Given the description of an element on the screen output the (x, y) to click on. 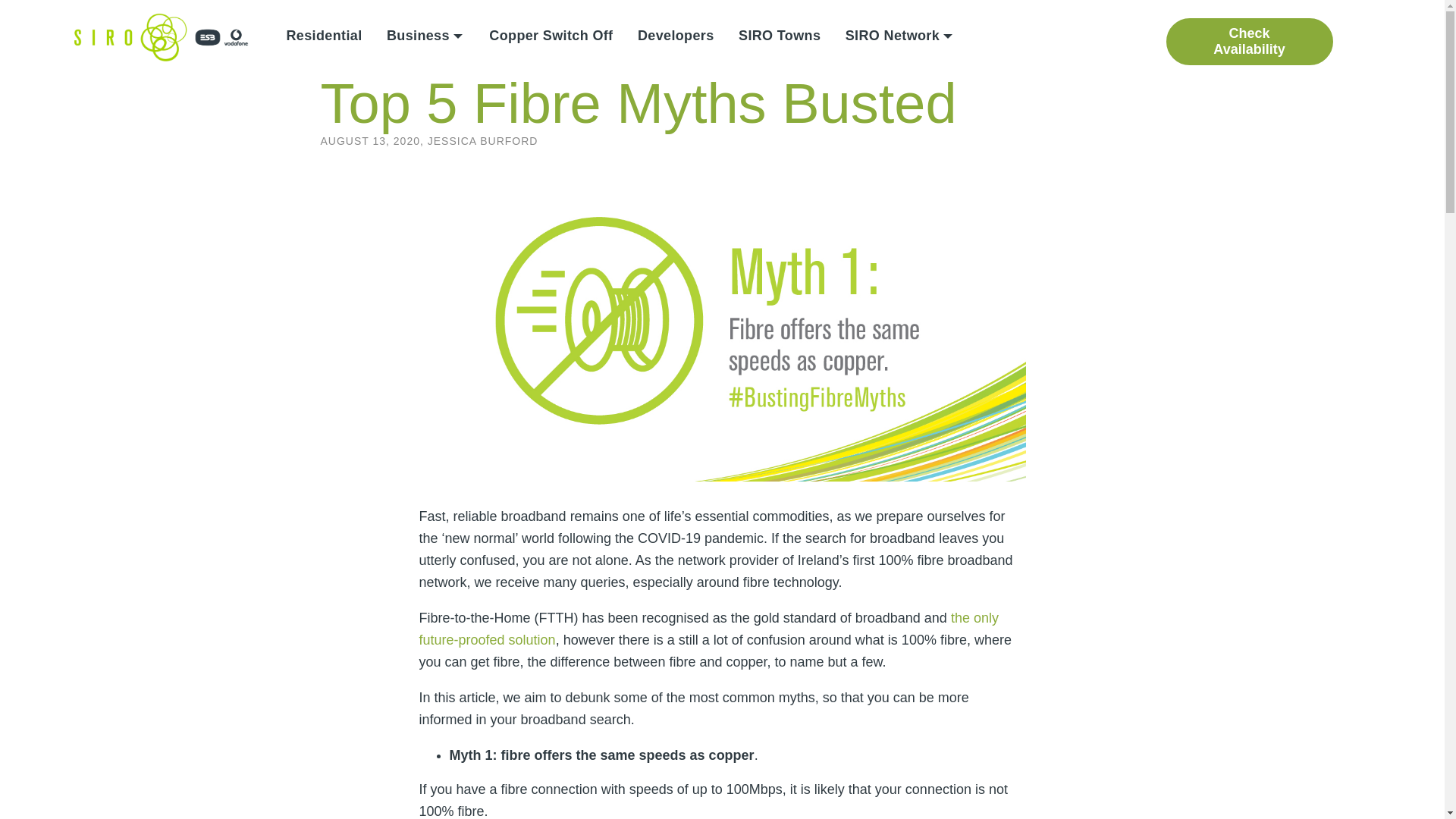
Developers (675, 35)
SIRO Network (900, 35)
SIRO Towns (779, 35)
SIRO (161, 37)
Copper Switch Off (550, 35)
Residential (324, 35)
Business (425, 35)
Check Availability (1249, 41)
